Given the description of an element on the screen output the (x, y) to click on. 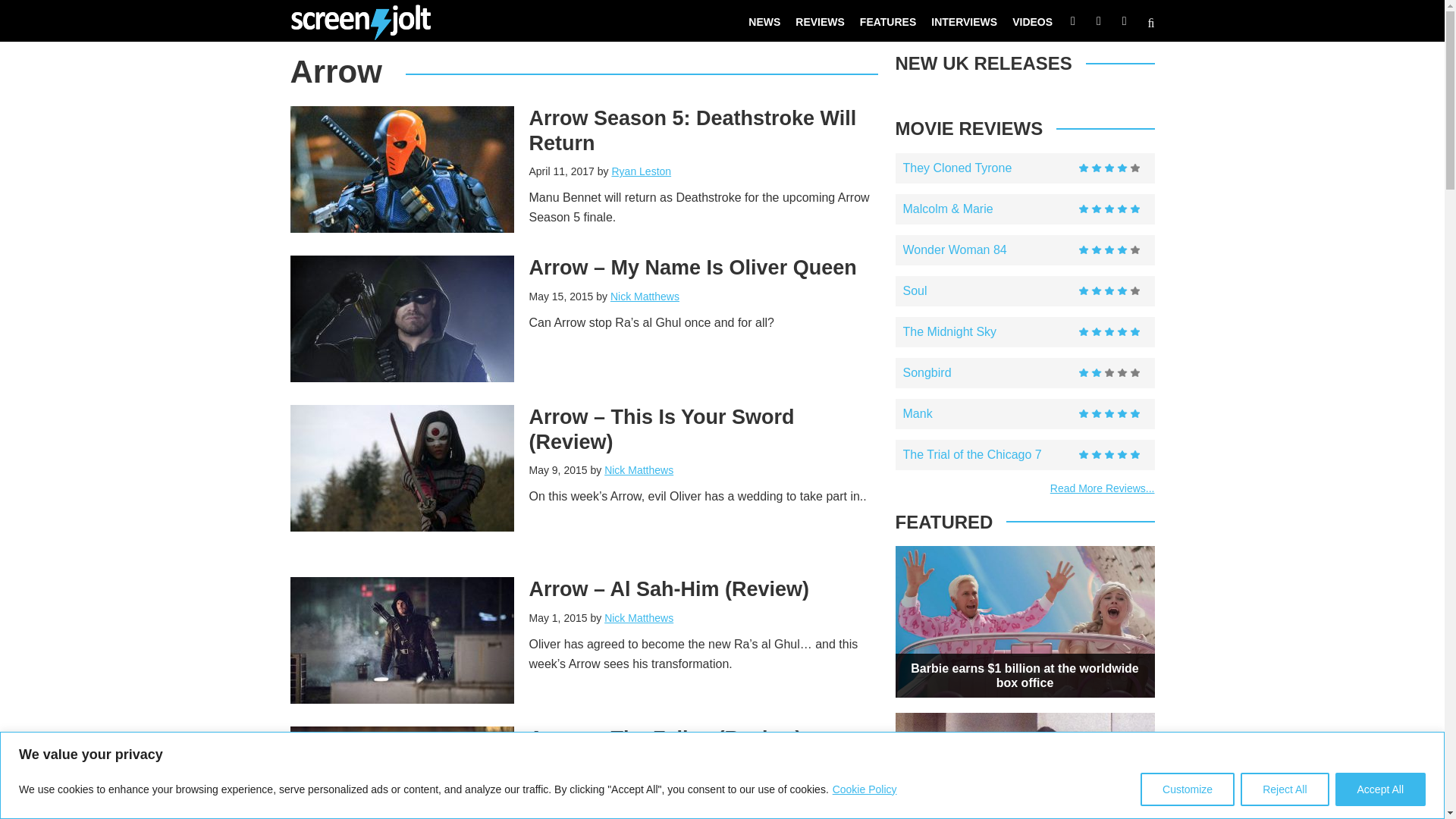
5 Stars (1108, 331)
FEATURES (887, 20)
4 Stars (1108, 167)
VIDEOS (1031, 20)
Accept All (1380, 788)
2 Stars (1108, 372)
Cookie Policy (864, 789)
INTERVIEWS (963, 20)
5 Stars (1108, 454)
5 Stars (1108, 208)
